Given the description of an element on the screen output the (x, y) to click on. 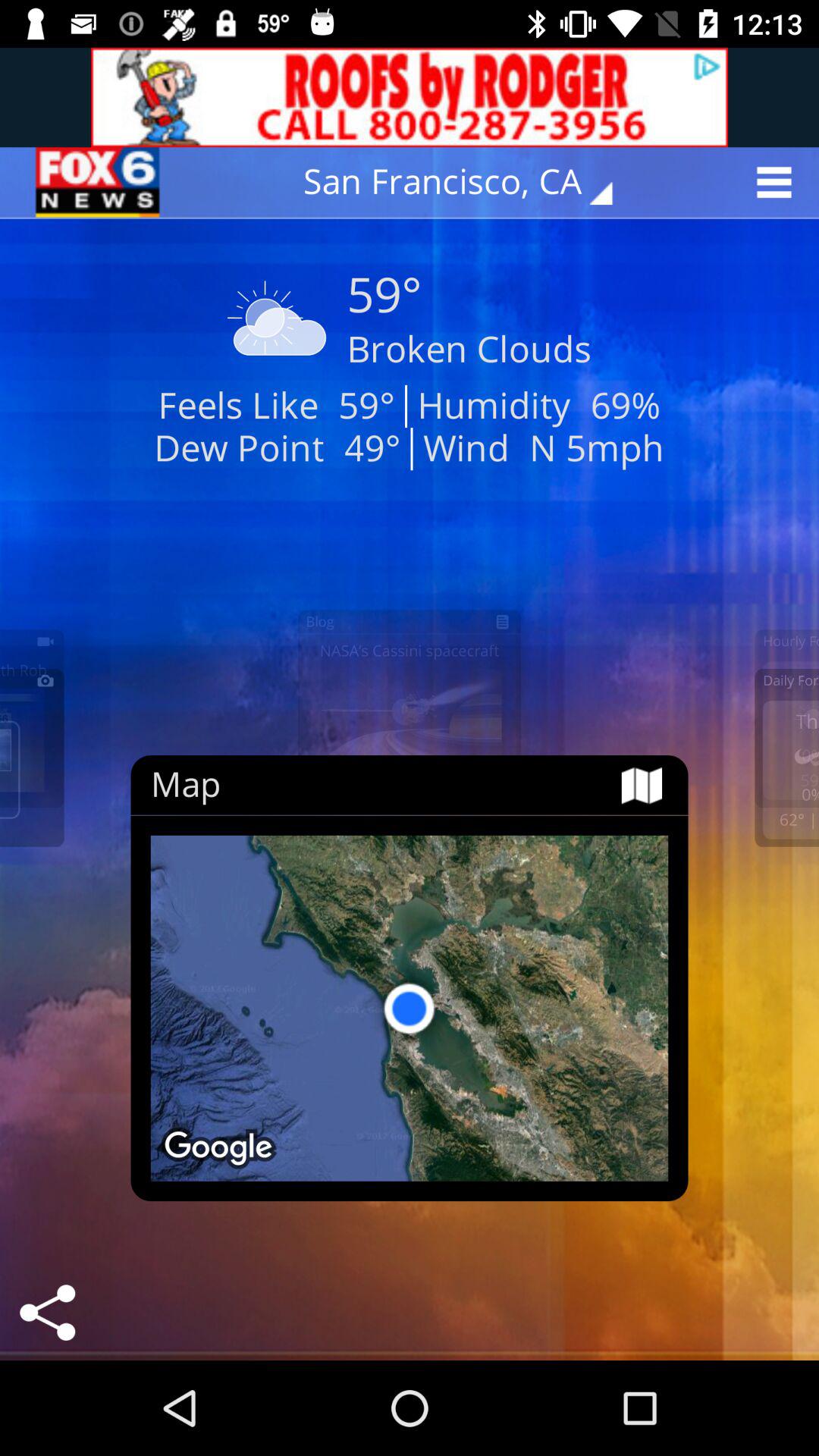
click the button which is above the text 59 degrees on the web page (468, 181)
click the button on the right next to the san franciscoca button on the web page (778, 181)
